Given the description of an element on the screen output the (x, y) to click on. 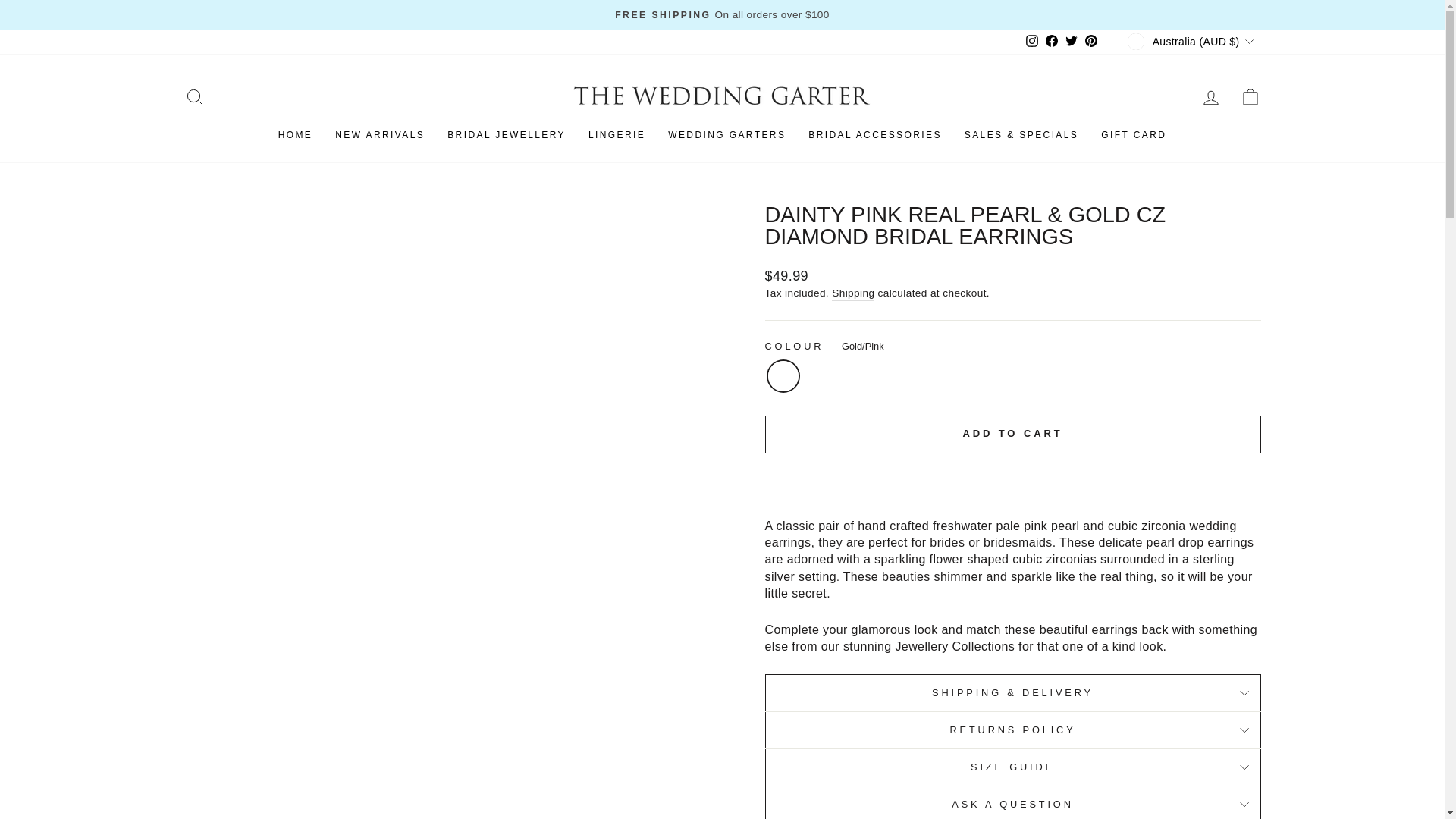
The Wedding Garter on Instagram (1032, 42)
The Wedding Garter on Pinterest (1090, 42)
The Wedding Garter on Facebook (1051, 42)
The Wedding Garter on Twitter (1071, 42)
